Given the description of an element on the screen output the (x, y) to click on. 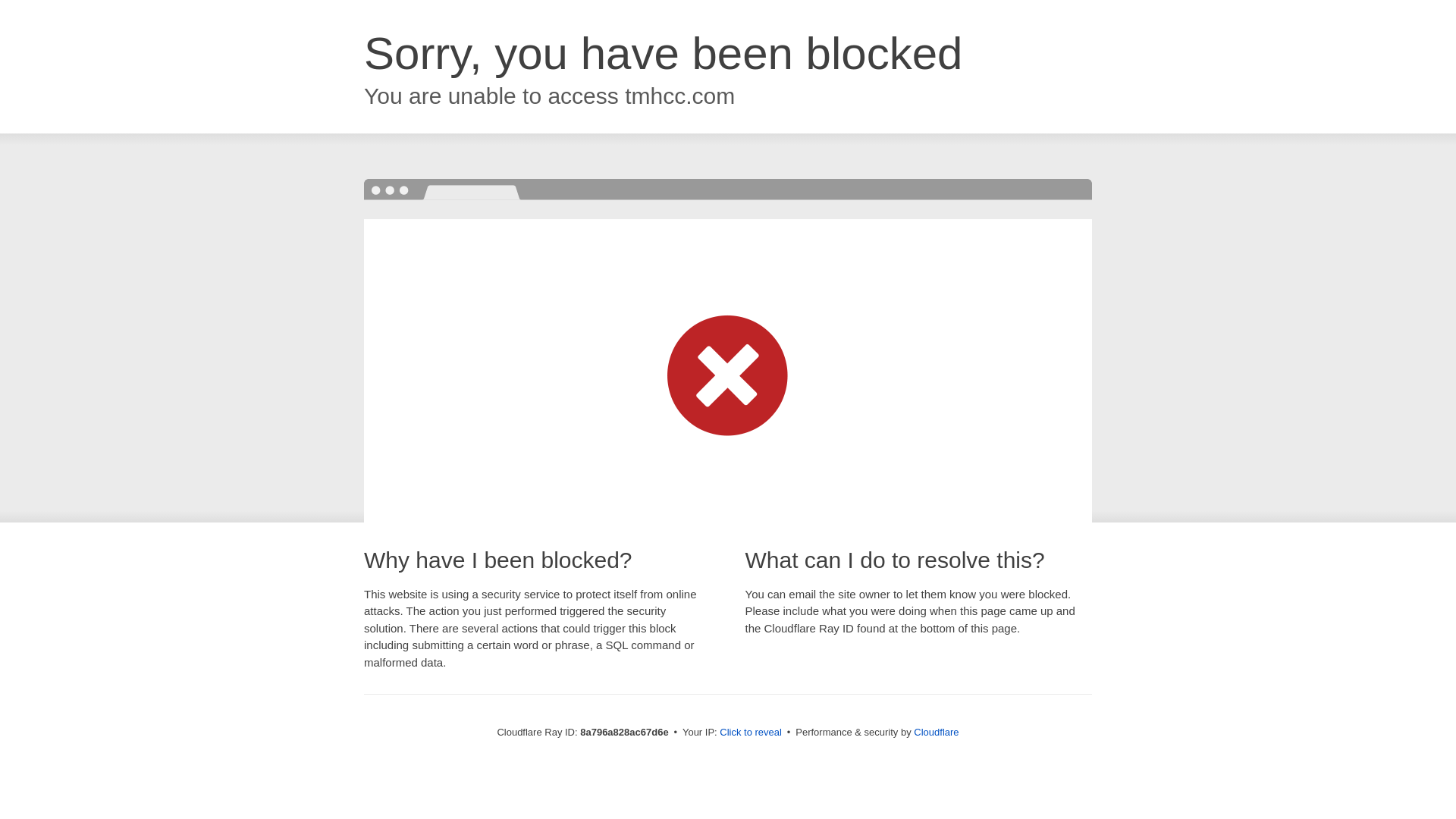
Click to reveal (750, 732)
Cloudflare (936, 731)
